Given the description of an element on the screen output the (x, y) to click on. 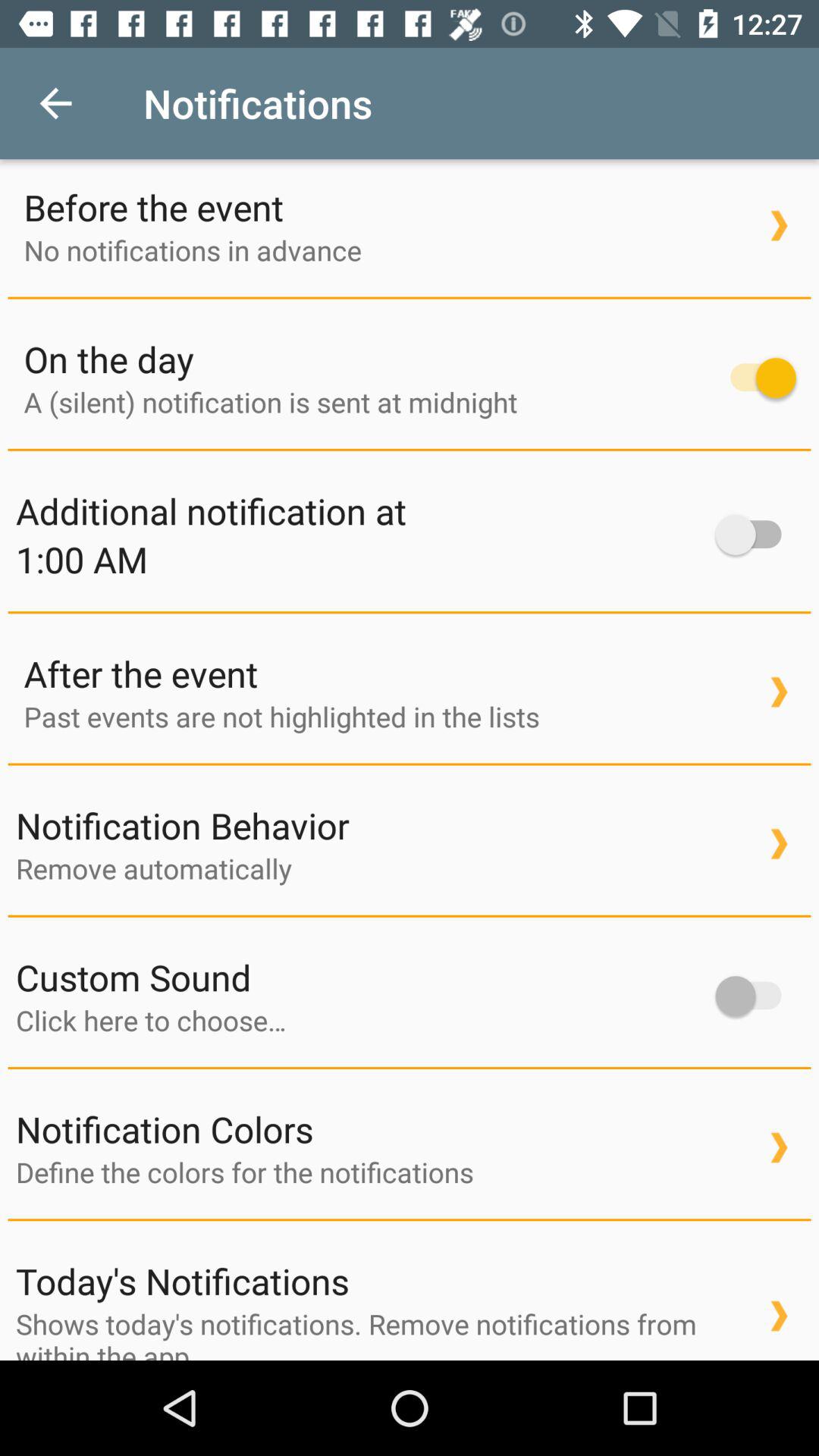
slider to turn on custom sound (755, 996)
